Given the description of an element on the screen output the (x, y) to click on. 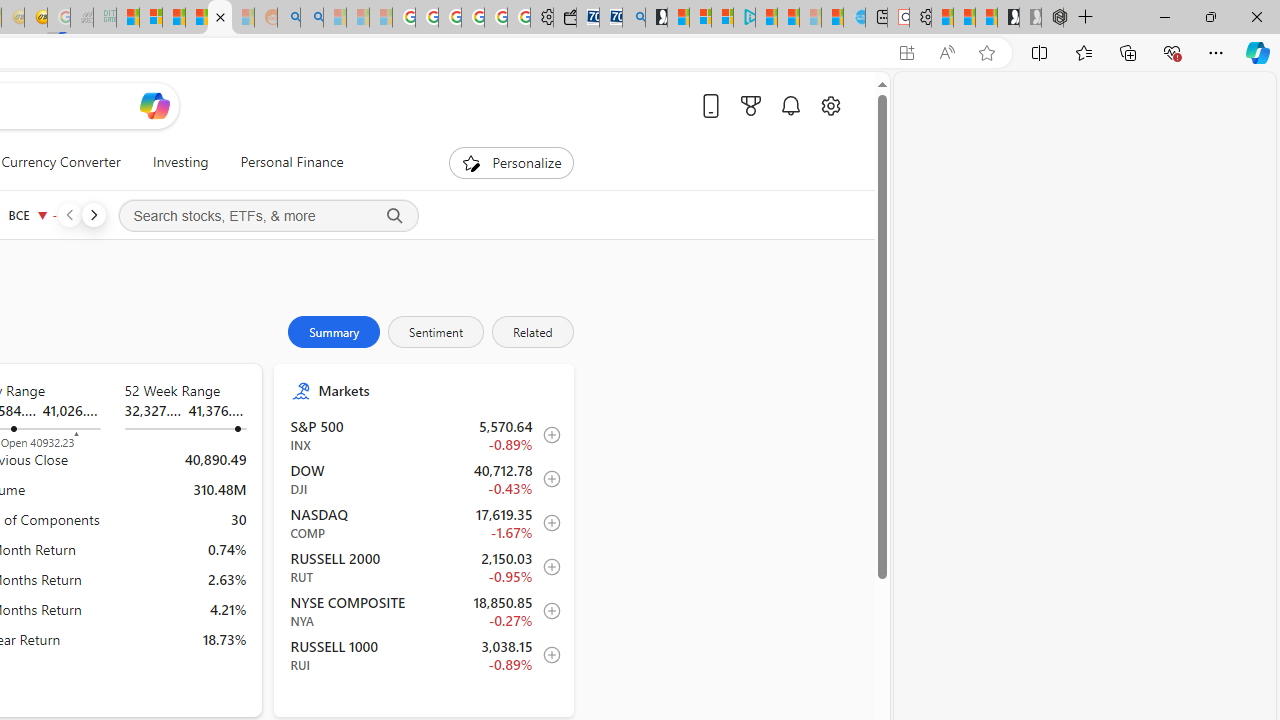
Personal Finance (292, 162)
Student Loan Update: Forgiveness Program Ends This Month (196, 17)
COMP NASDAQ decrease 17,619.35 -299.63 -1.67% itemundefined (423, 523)
Search stocks, ETFs, & more (267, 215)
